Given the description of an element on the screen output the (x, y) to click on. 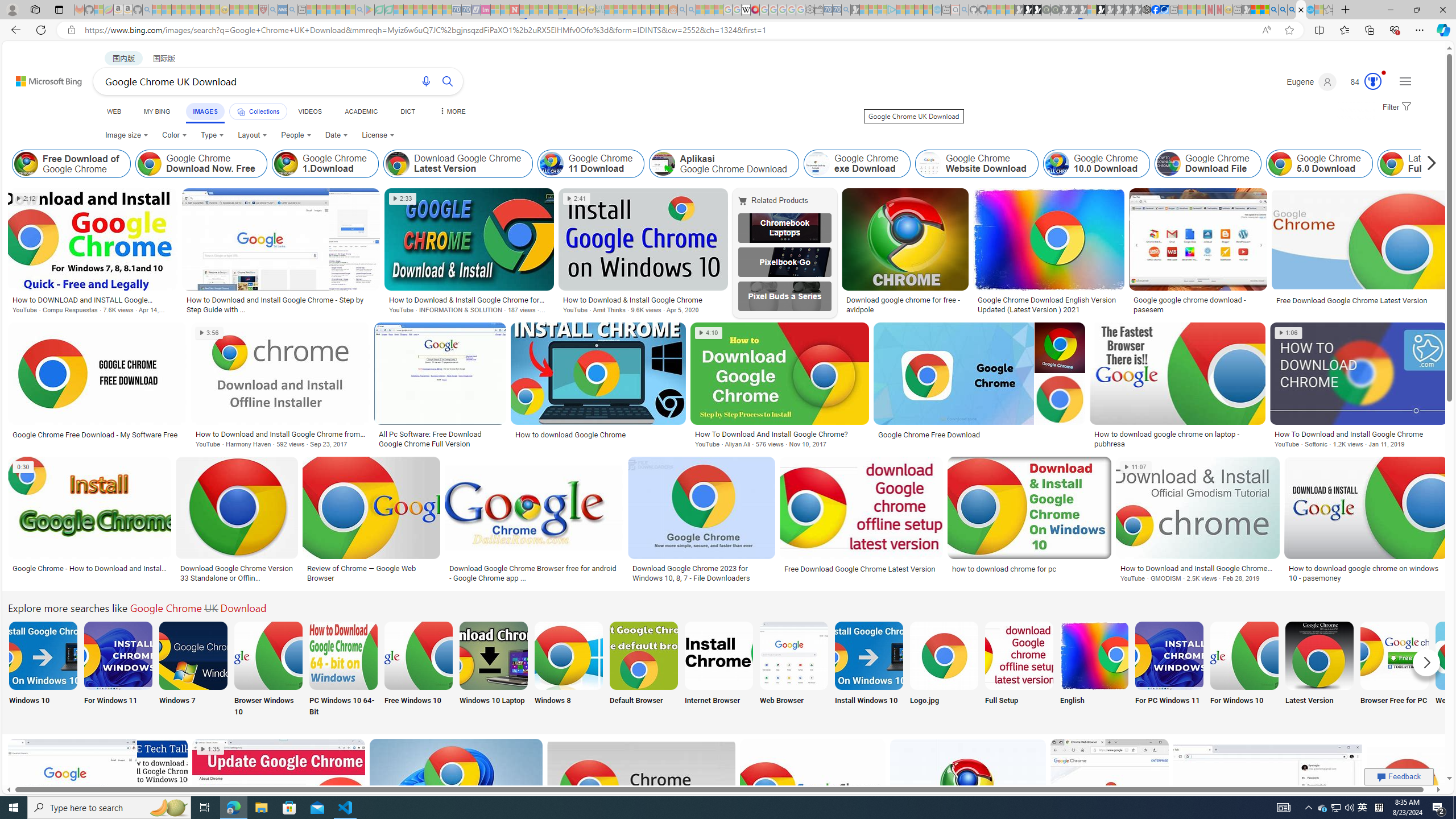
Google Chrome UK Download - Search Images (1300, 9)
Google Chrome Internet Browser Download (718, 654)
Google Chrome Download for PC Windows 11 (1169, 654)
How to download google chrome on laptop - pubhresa (1177, 438)
Type (212, 135)
Logo.jpg (944, 669)
Web Browser (794, 669)
Class: b_pri_nav_svg (240, 112)
